Given the description of an element on the screen output the (x, y) to click on. 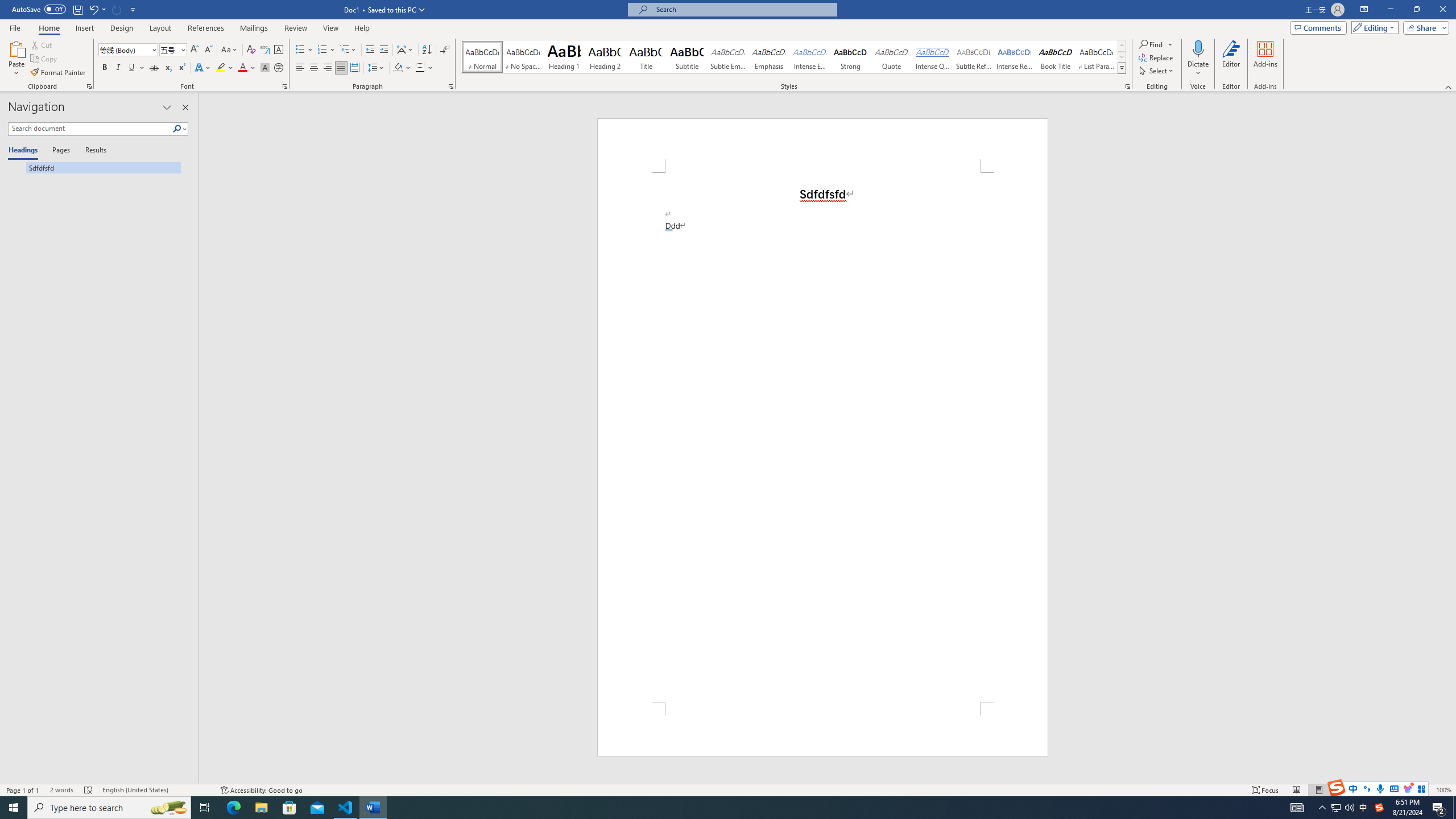
Customize Quick Access Toolbar (133, 9)
Help (361, 28)
Center (313, 67)
Intense Quote (932, 56)
Underline (131, 67)
Styles (1121, 67)
Italic (118, 67)
Zoom Out (1377, 790)
Read Mode (1296, 790)
Clear Formatting (250, 49)
Class: MsoCommandBar (728, 789)
Styles... (1127, 85)
Minimize (1390, 9)
